Given the description of an element on the screen output the (x, y) to click on. 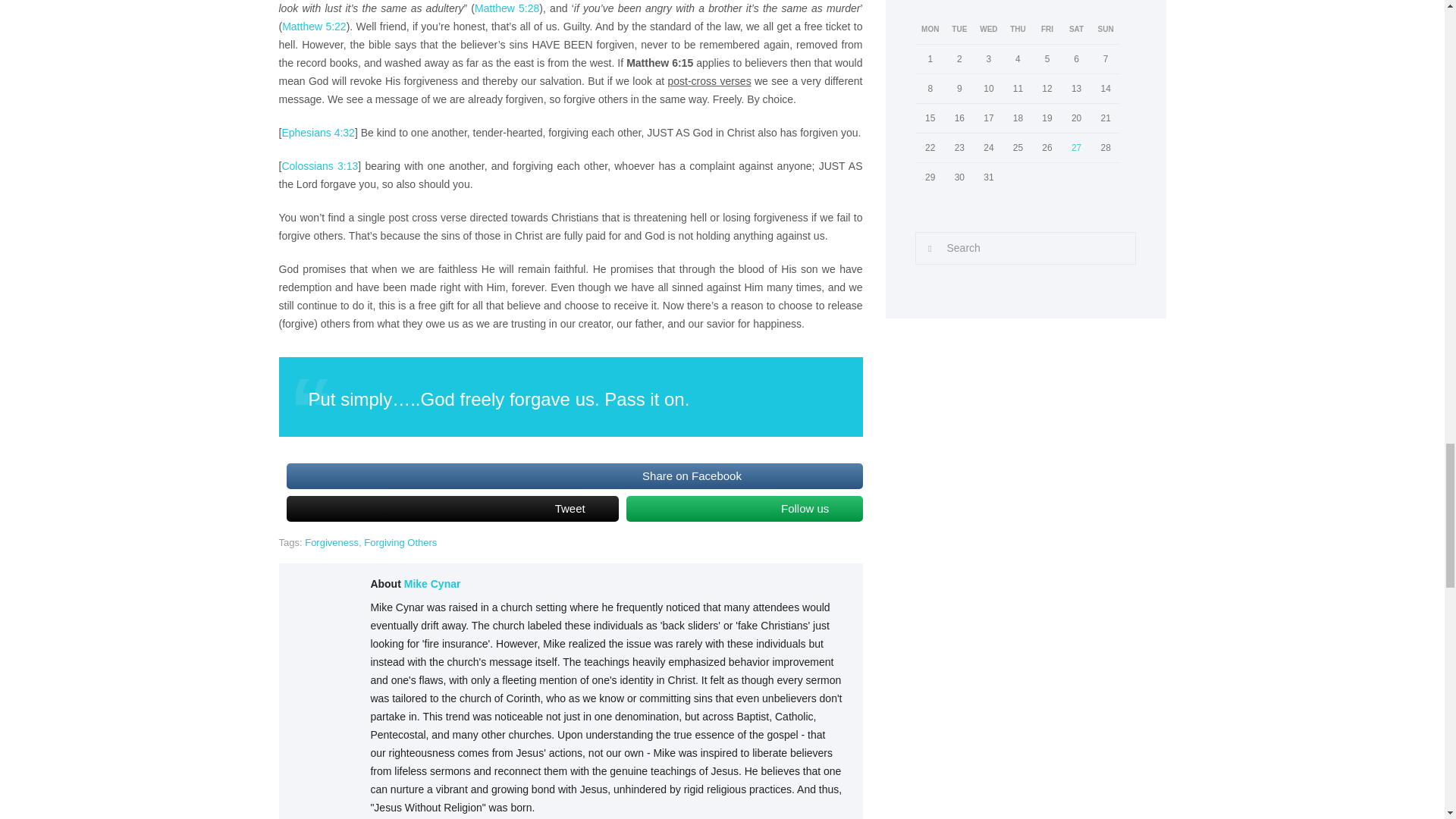
Monday (929, 30)
